Given the description of an element on the screen output the (x, y) to click on. 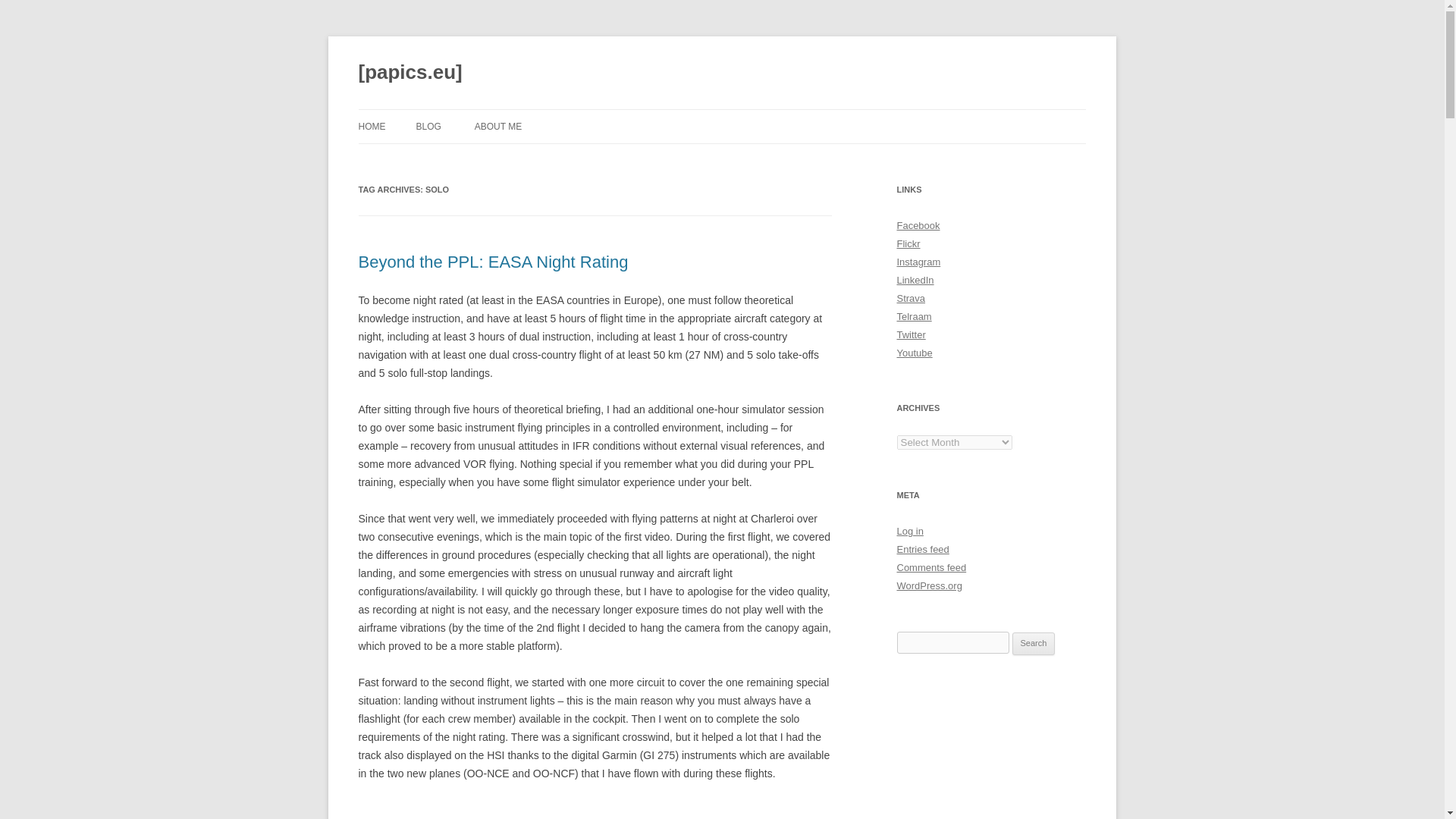
Beyond the PPL: EASA Night Rating (492, 261)
HOME (371, 126)
BLOG (427, 126)
ABOUT ME (497, 126)
Permalink to Beyond the PPL: EASA Night Rating (492, 261)
Skip to content (757, 113)
Search (1033, 643)
Skip to content (757, 113)
